Given the description of an element on the screen output the (x, y) to click on. 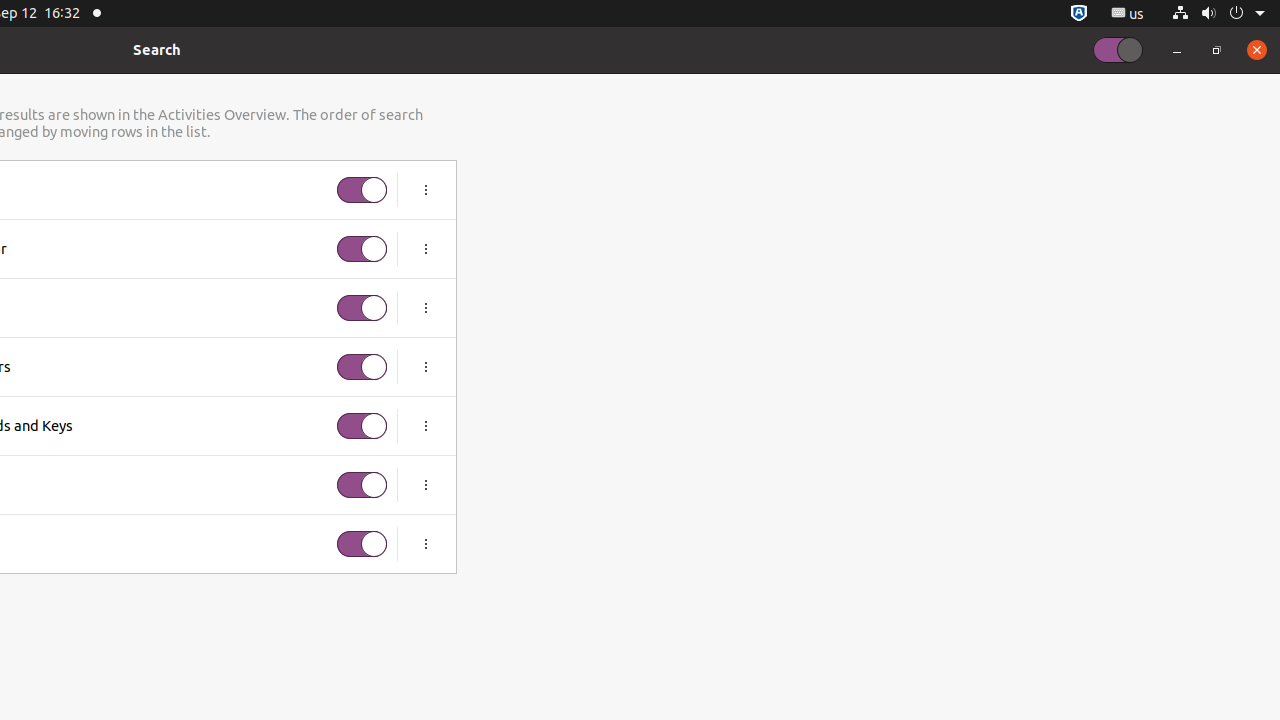
Menu Element type: toggle-button (426, 544)
Restore Element type: push-button (1217, 50)
